Given the description of an element on the screen output the (x, y) to click on. 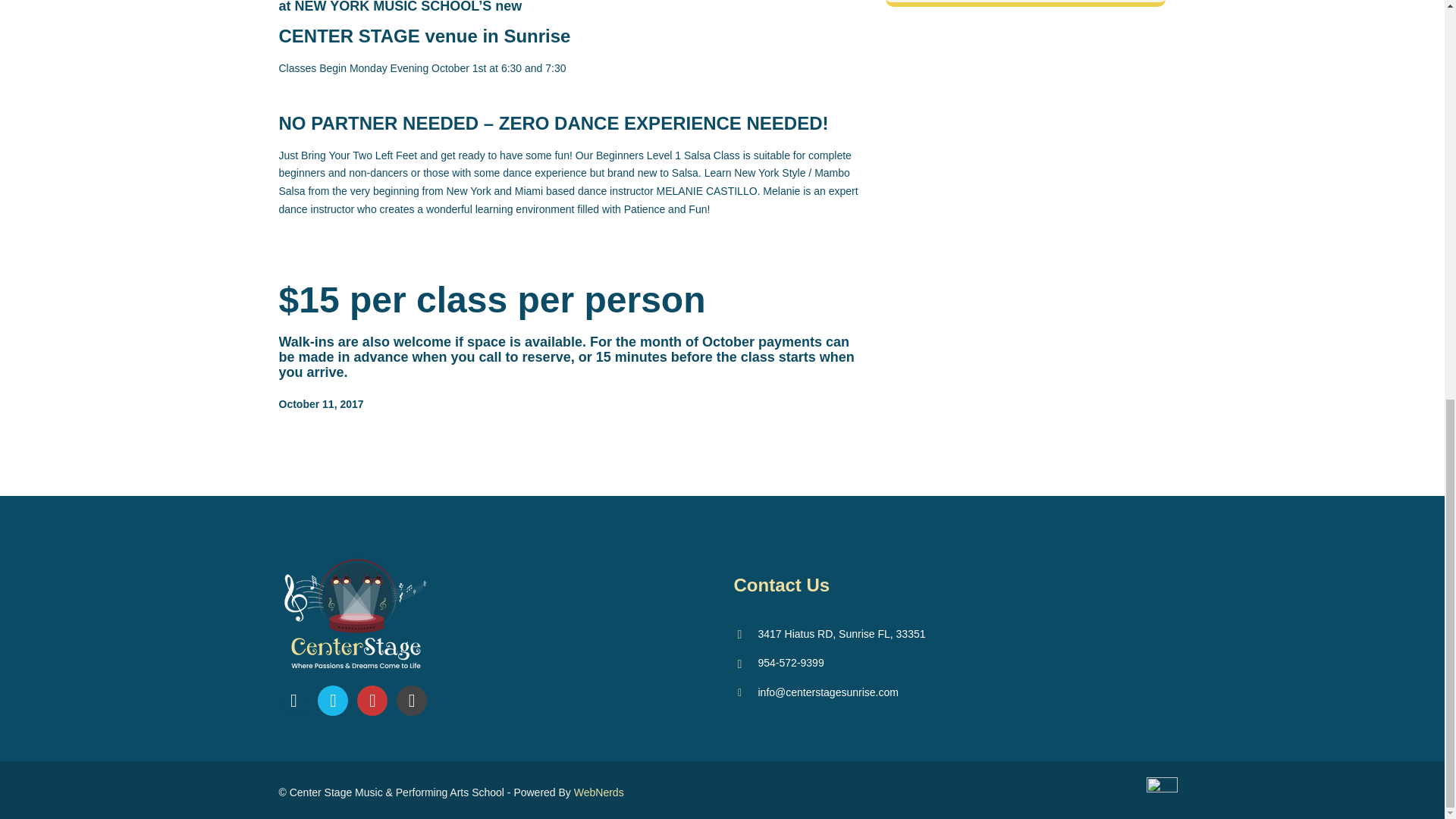
954-572-9399 (778, 662)
3417 Hiatus RD, Sunrise FL, 33351 (829, 633)
WebNerds (598, 792)
